Given the description of an element on the screen output the (x, y) to click on. 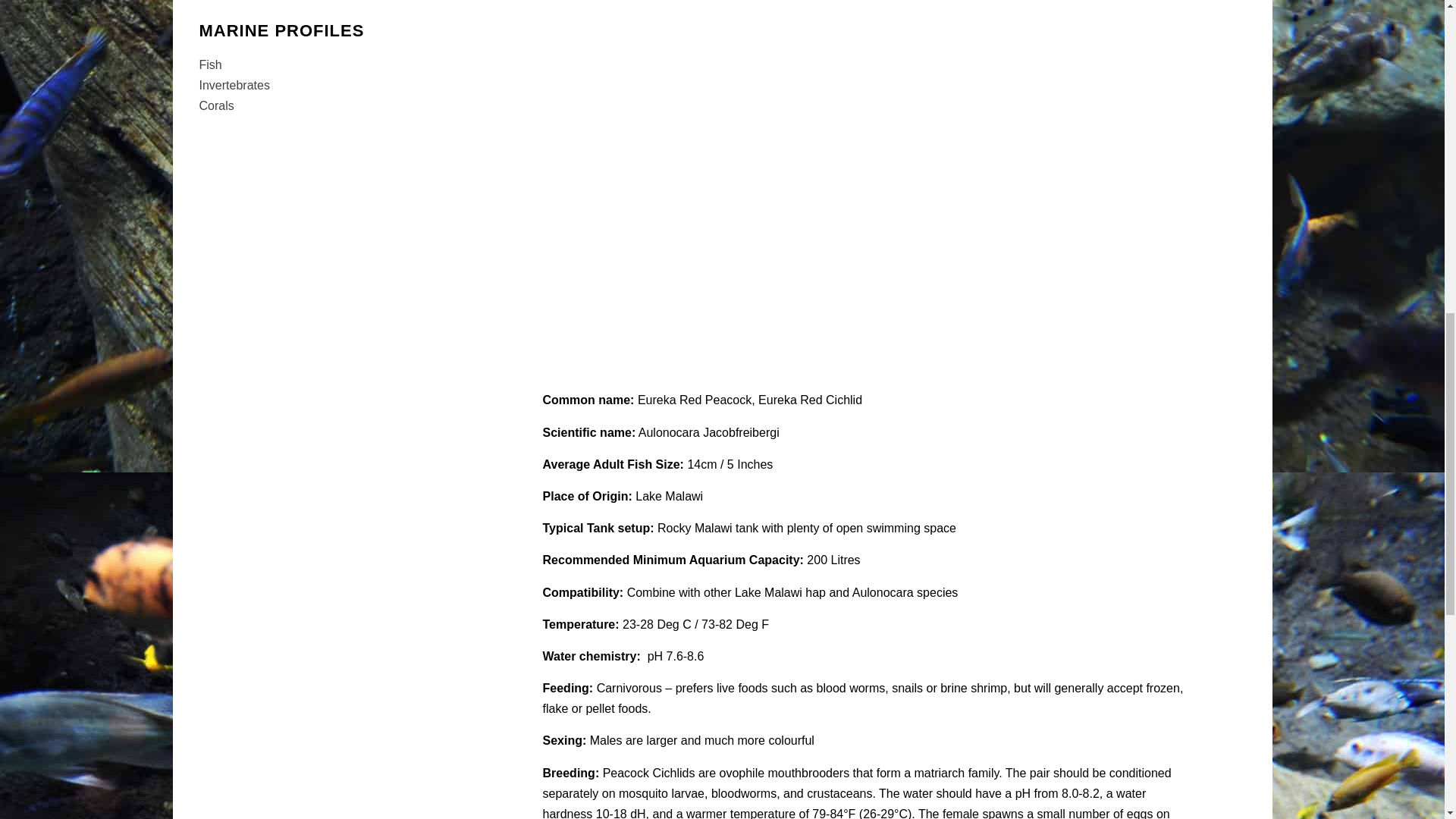
Invertebrates (233, 84)
Corals (215, 105)
Fish (209, 64)
